Given the description of an element on the screen output the (x, y) to click on. 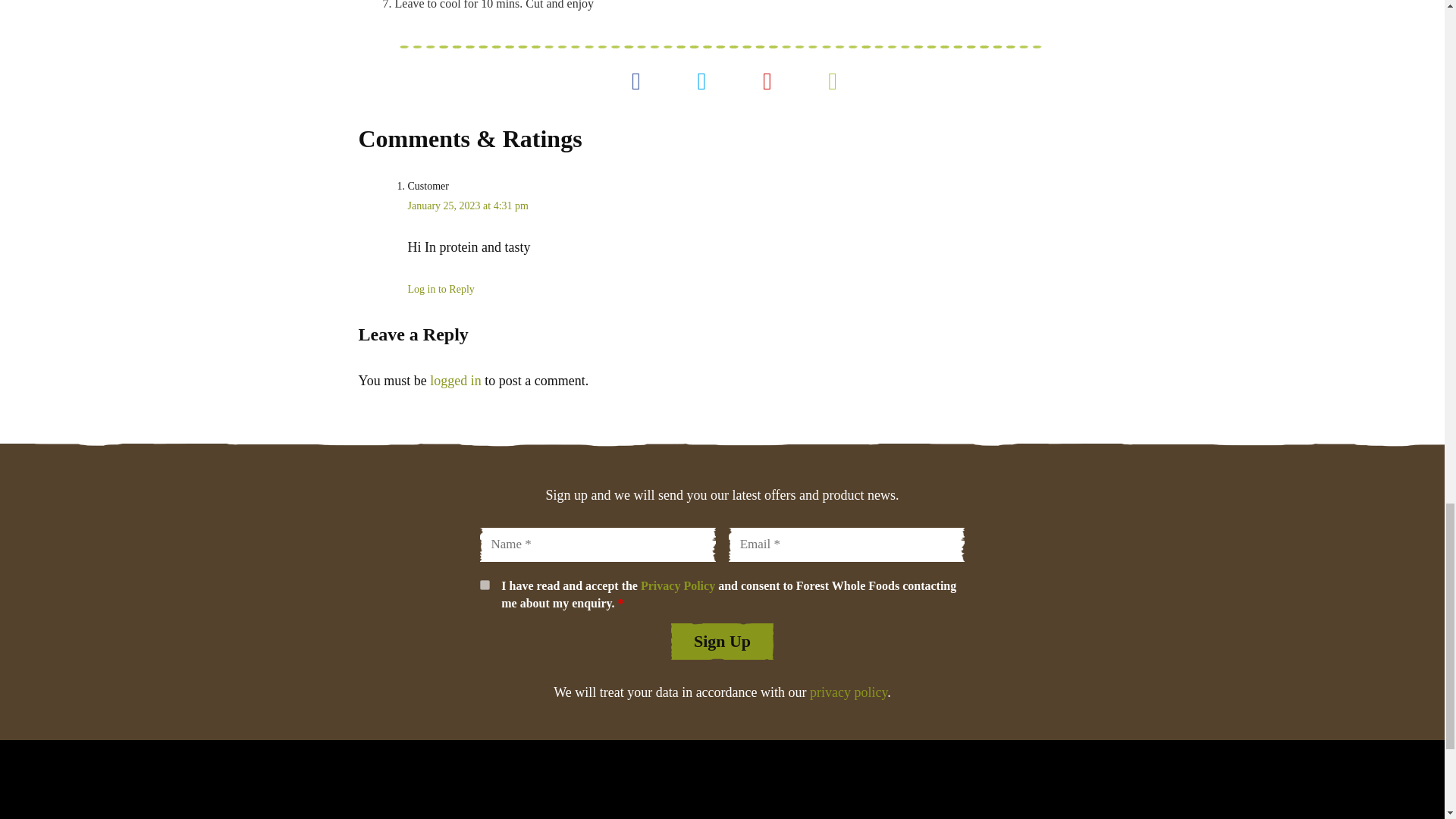
Pin it (767, 80)
Share on Facebook (636, 80)
Tweet (701, 80)
1 (484, 584)
Share by email (832, 80)
Sign Up (722, 641)
